Given the description of an element on the screen output the (x, y) to click on. 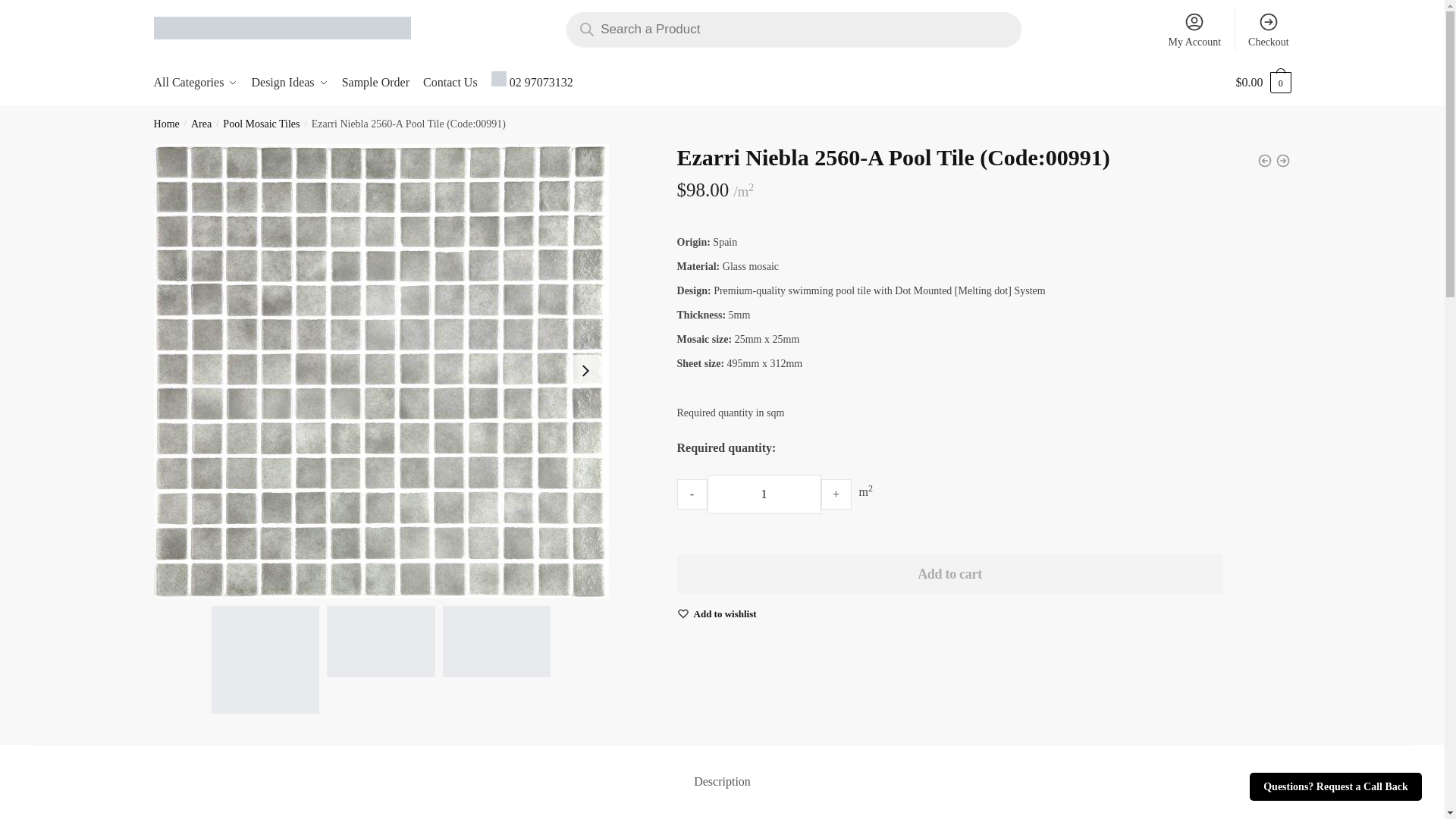
1 (764, 494)
My Account (1194, 29)
All Categories (198, 82)
2560-A-NIEBLA-Mosaic-Ezarri (264, 658)
View your shopping cart (1263, 82)
2560-A-NIEBLA-Mosaic-POOL-Ezarri-4 (496, 641)
Checkout (1268, 29)
2560-A-NIEBLA-Mosaic-POOL-Ezarri-7 (379, 641)
